Given the description of an element on the screen output the (x, y) to click on. 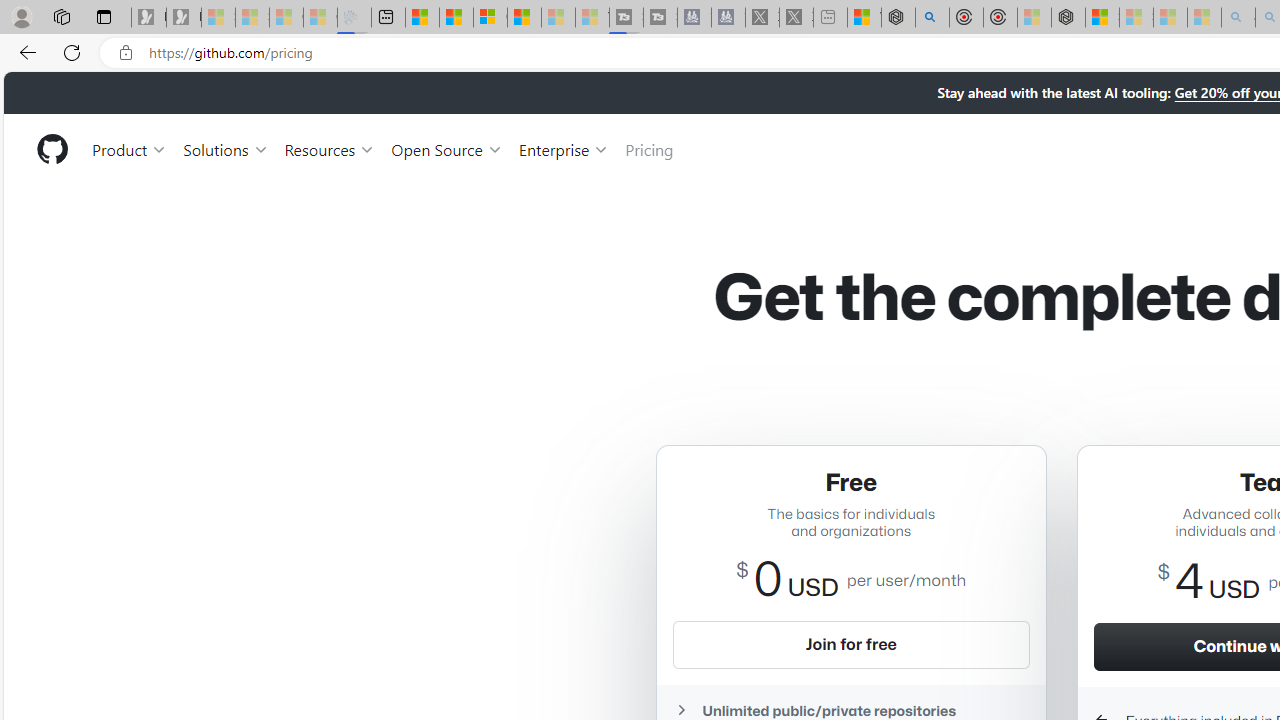
Product (130, 148)
Product (130, 148)
Streaming Coverage | T3 - Sleeping (626, 17)
Wildlife - MSN (863, 17)
Open Source (446, 148)
Newsletter Sign Up - Sleeping (183, 17)
